Given the description of an element on the screen output the (x, y) to click on. 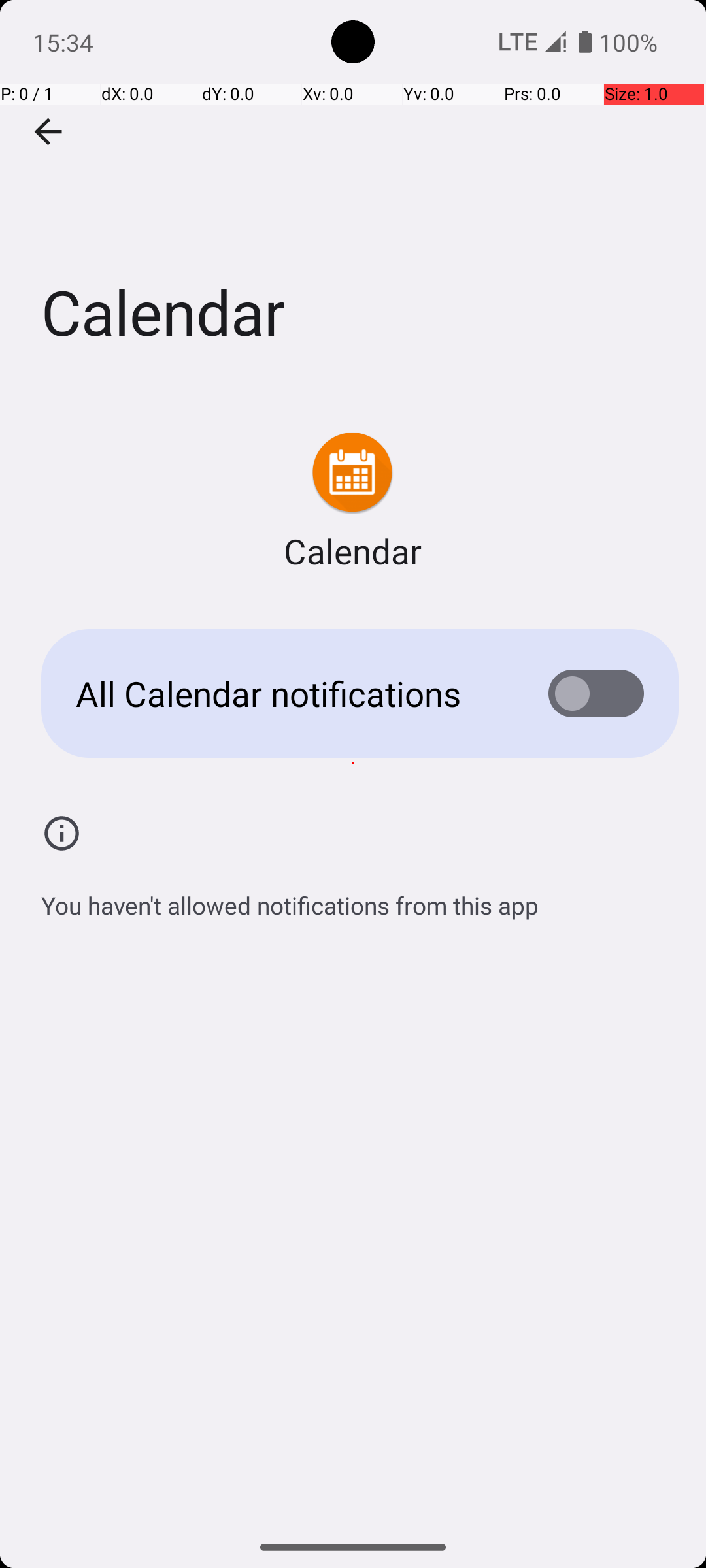
All Calendar notifications Element type: android.widget.TextView (291, 693)
You haven't allowed notifications from this app Element type: android.widget.TextView (290, 898)
